Given the description of an element on the screen output the (x, y) to click on. 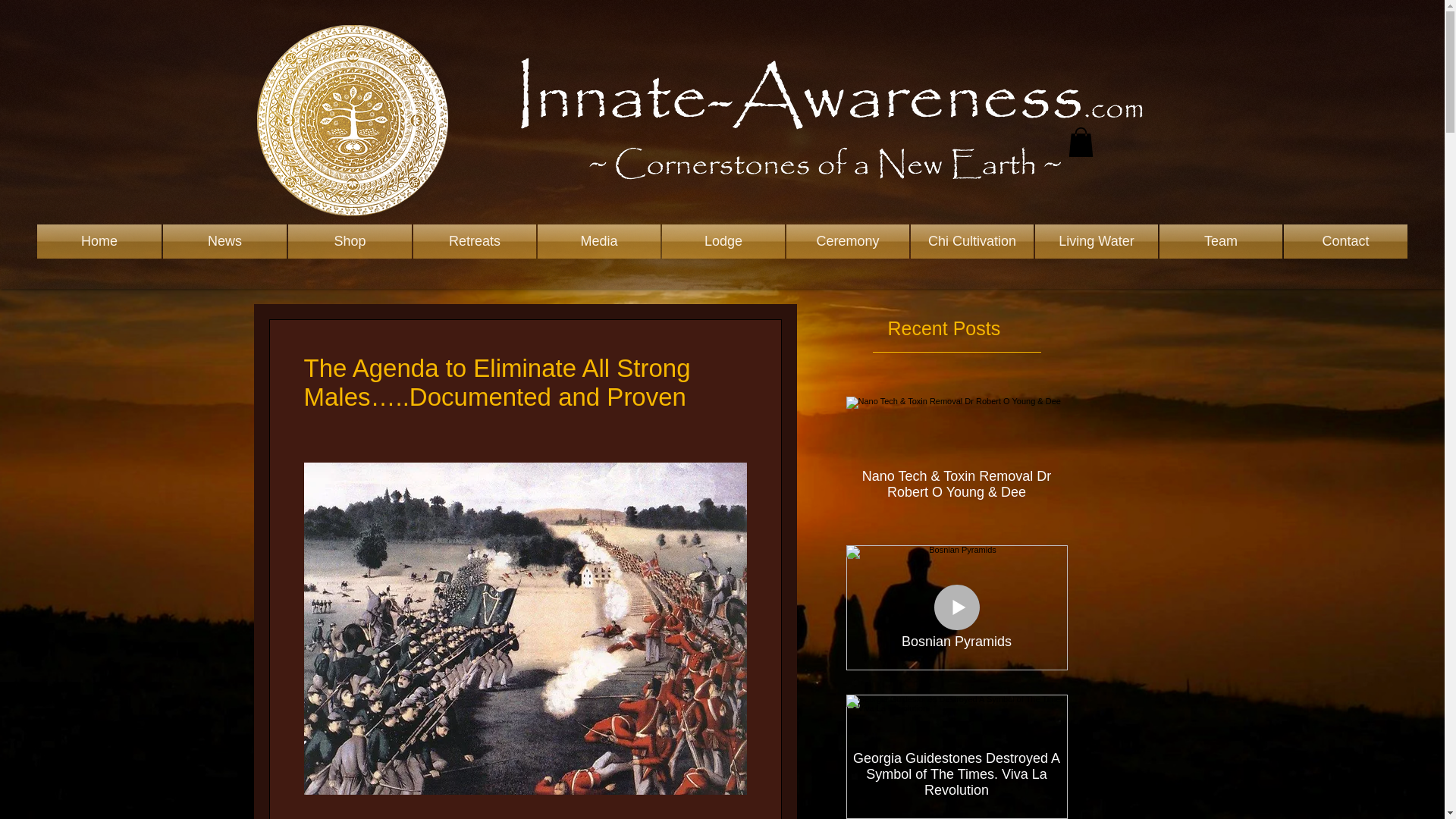
Retreats (474, 241)
Living Water (1095, 241)
Ceremony (848, 241)
Team (1220, 241)
News (223, 241)
Chi Cultivation (971, 241)
Bosnian Pyramids (955, 634)
Lodge (723, 241)
Media (599, 241)
Home (99, 241)
Contact (1344, 241)
Shop (349, 241)
